Given the description of an element on the screen output the (x, y) to click on. 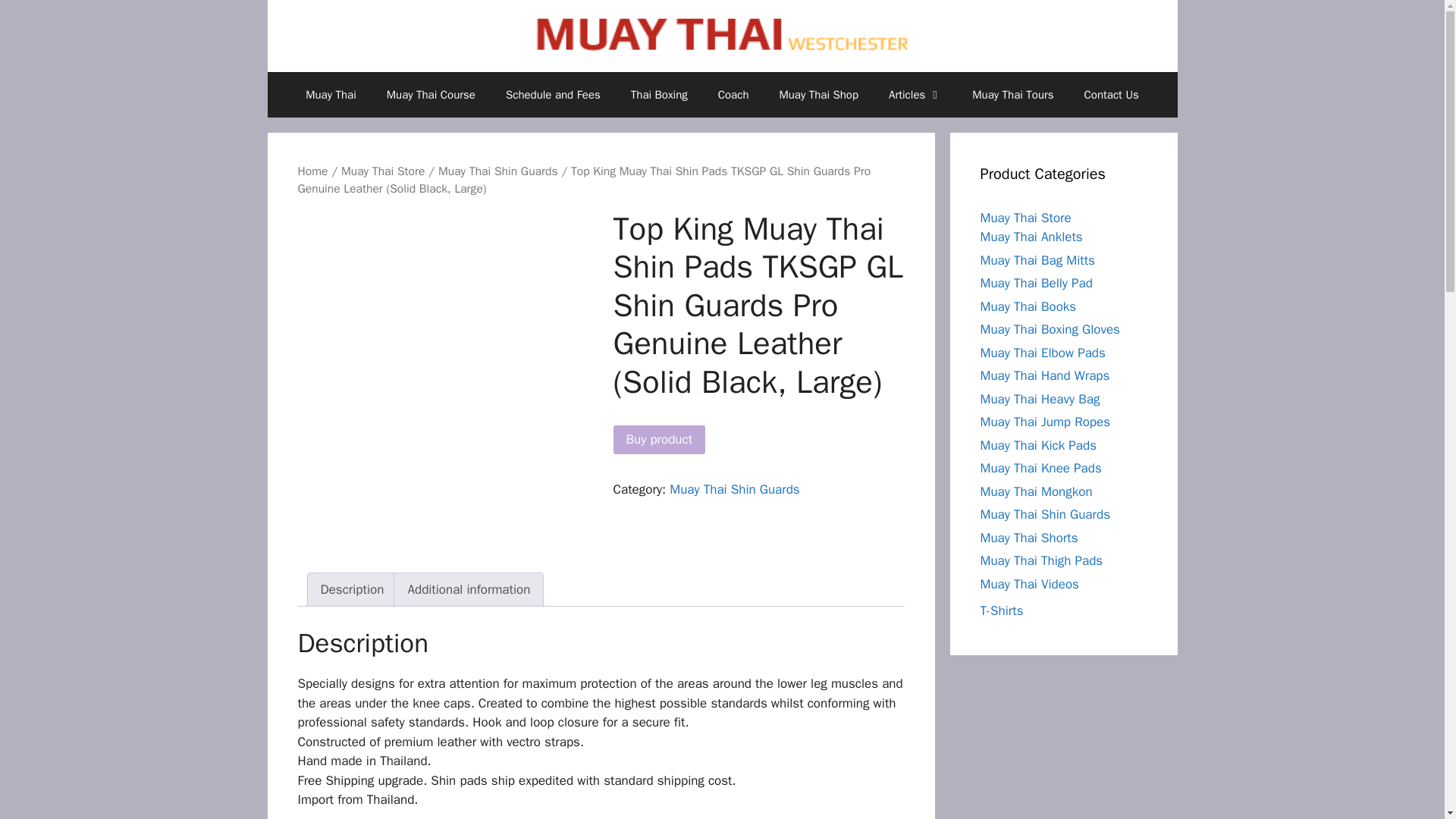
Muay Thai Shop (817, 94)
Muay Thai Shin Guards (497, 171)
Additional information (468, 589)
Schedule and Fees (552, 94)
Muay Thai Course (430, 94)
Muay Thai Shin Guards (734, 489)
Thai Boxing (659, 94)
Buy product (658, 439)
Contact Us (1111, 94)
Muay Thai Store (382, 171)
